Given the description of an element on the screen output the (x, y) to click on. 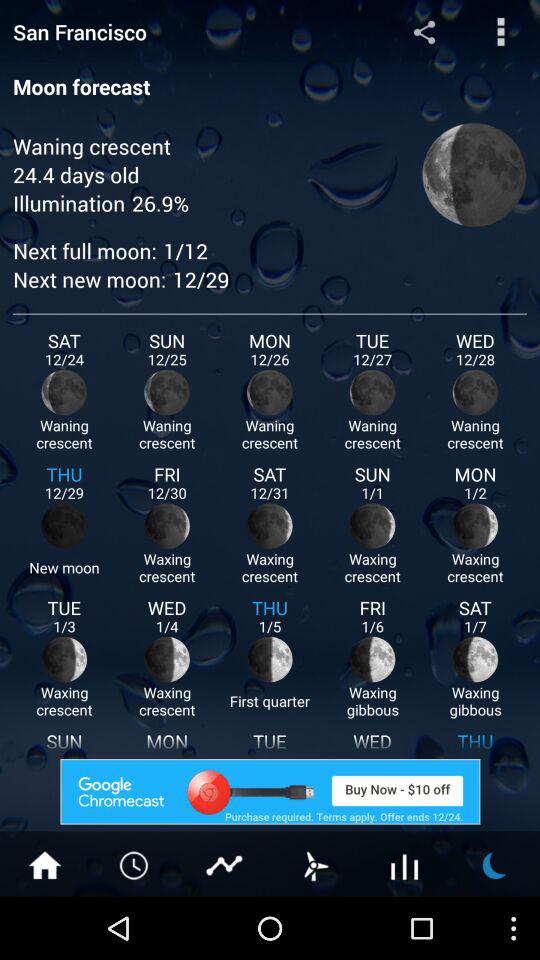
go to share option (424, 31)
